Given the description of an element on the screen output the (x, y) to click on. 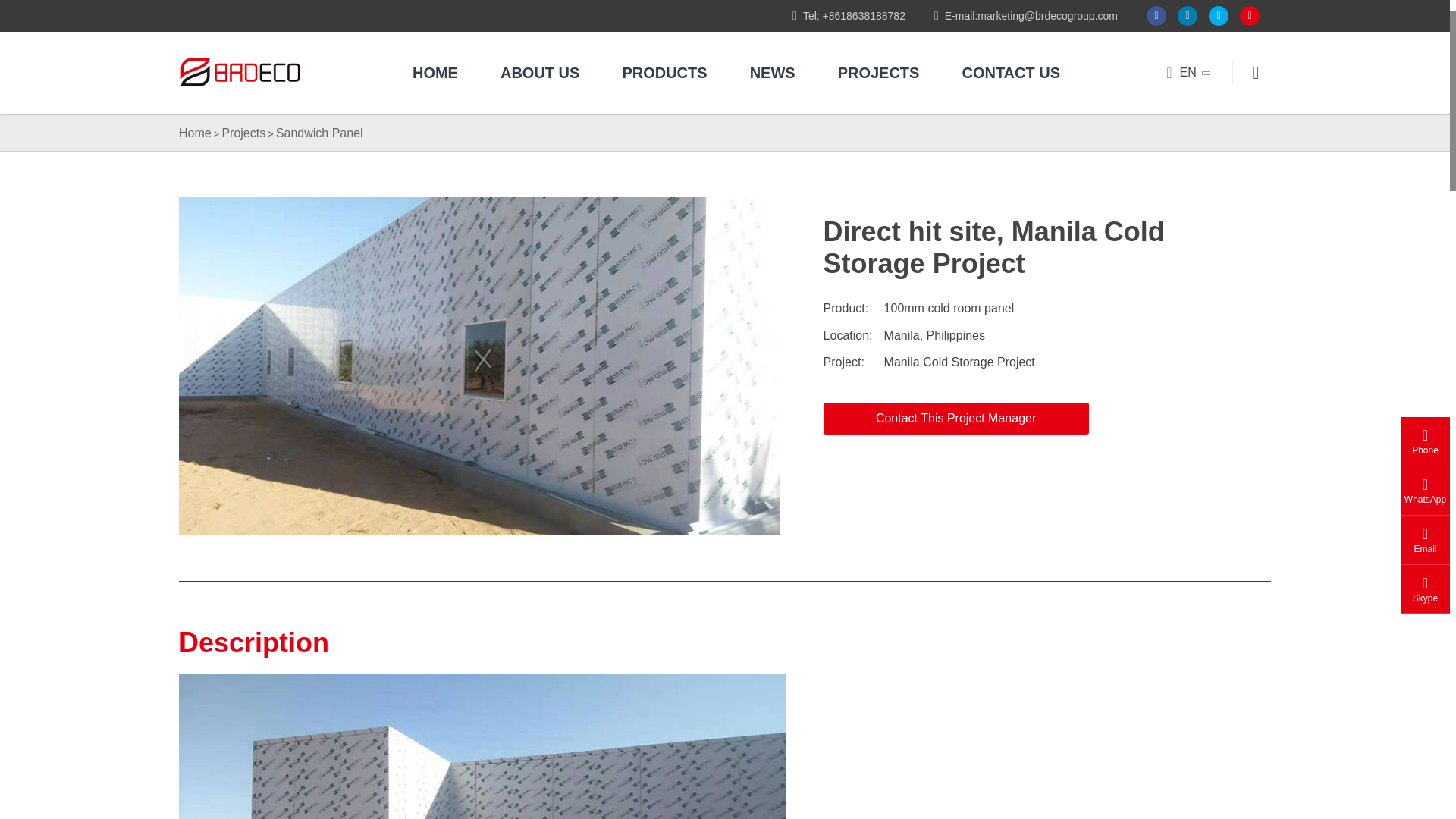
ABOUT US (539, 72)
CONTACT US (1010, 72)
NEWS (772, 72)
HOME (435, 72)
PROJECTS (878, 72)
PRODUCTS (663, 72)
